Given the description of an element on the screen output the (x, y) to click on. 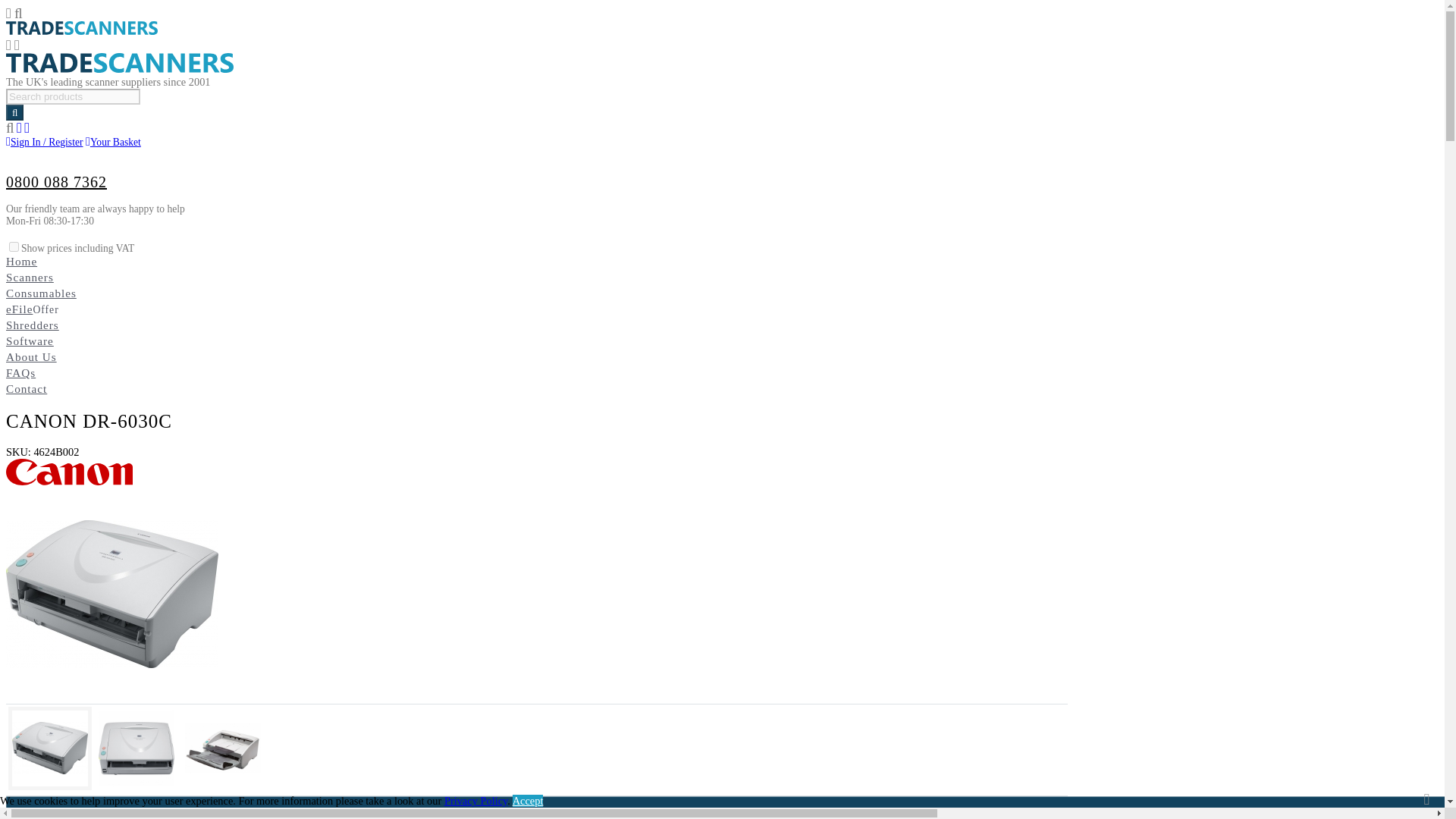
eFile (18, 308)
Accept (527, 800)
Consumables (41, 292)
Privacy Policy (475, 800)
Software (29, 340)
Home (21, 260)
Shredders (32, 324)
Contact (25, 388)
Your Basket (113, 142)
About Us (30, 356)
Scanners (29, 277)
0800 088 7362 (55, 181)
FAQs (19, 372)
on (13, 246)
